Given the description of an element on the screen output the (x, y) to click on. 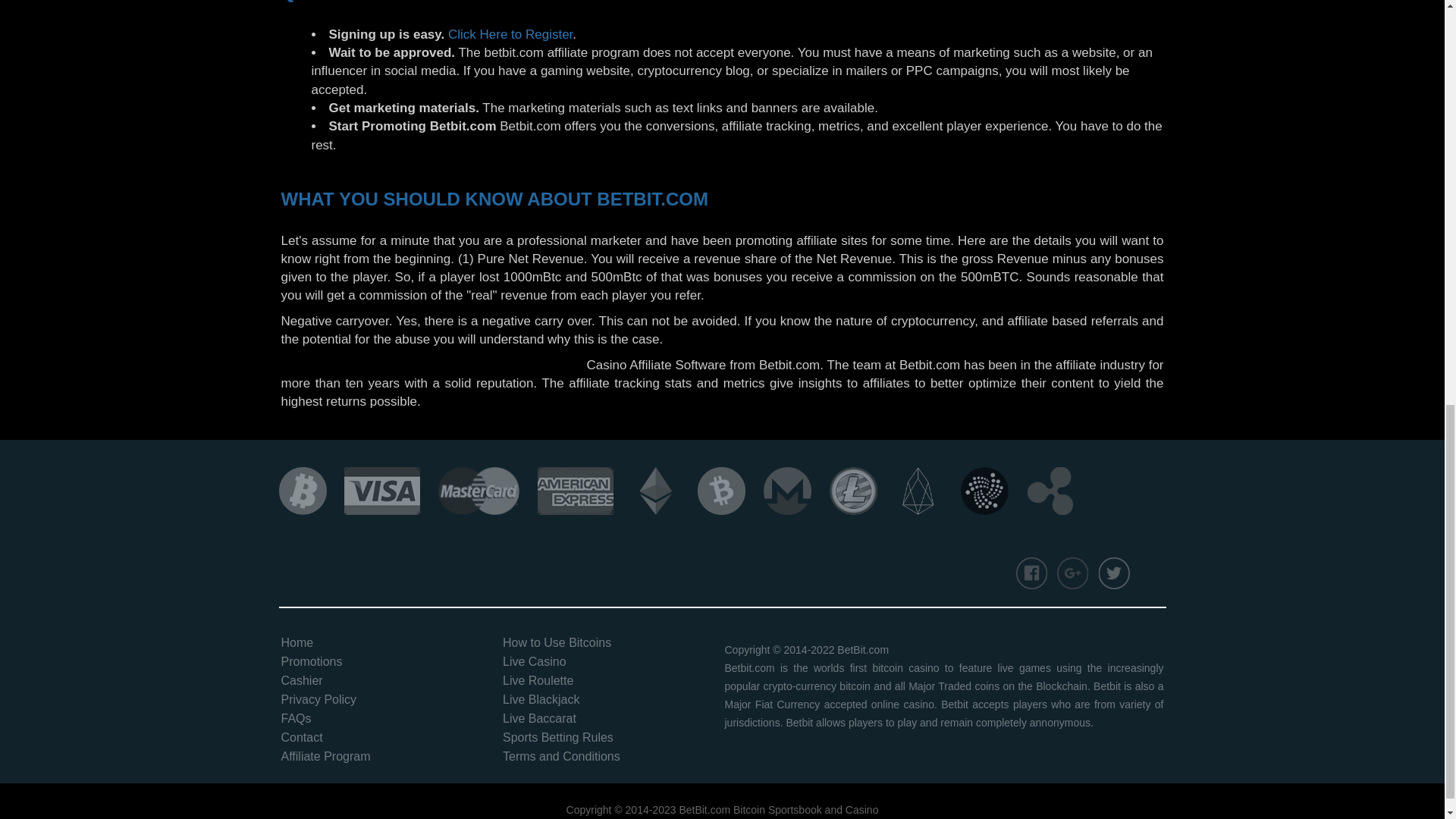
Click Here to Register (510, 34)
